Given the description of an element on the screen output the (x, y) to click on. 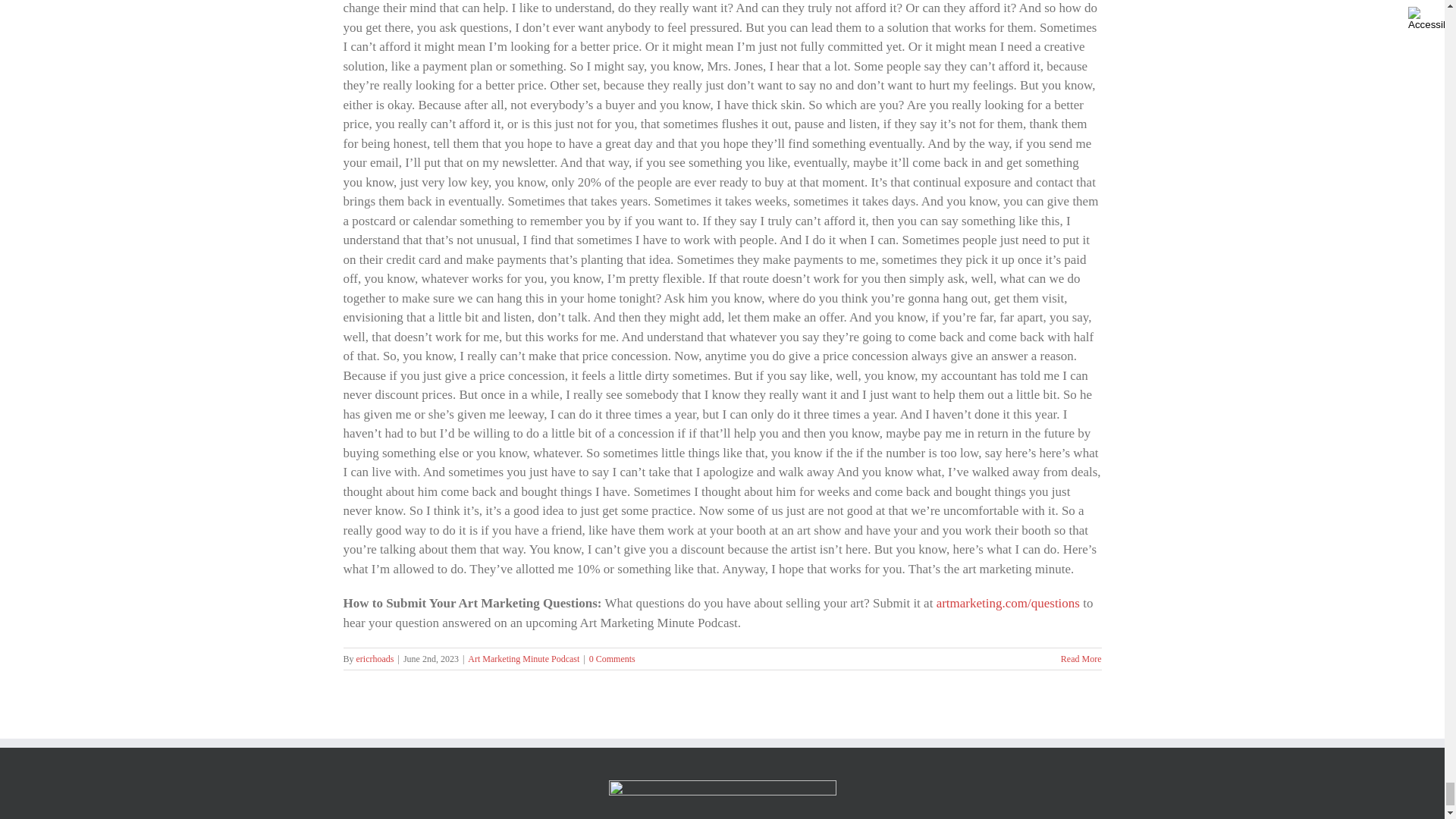
Posts by ericrhoads (375, 658)
